Given the description of an element on the screen output the (x, y) to click on. 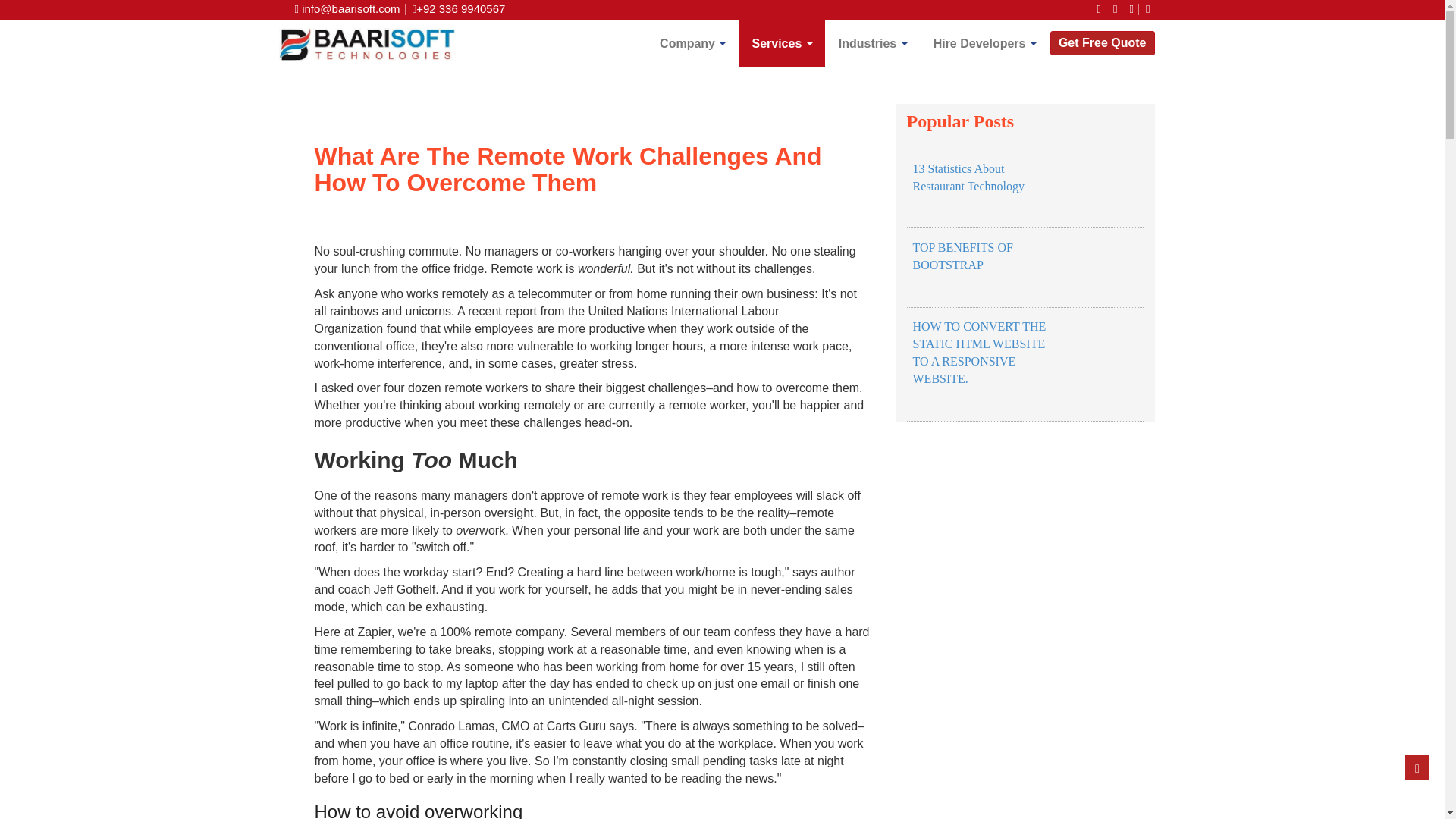
Industries (873, 43)
Hire Developers (984, 43)
Services (781, 43)
Get Free Quote (1101, 43)
Company (692, 43)
